Given the description of an element on the screen output the (x, y) to click on. 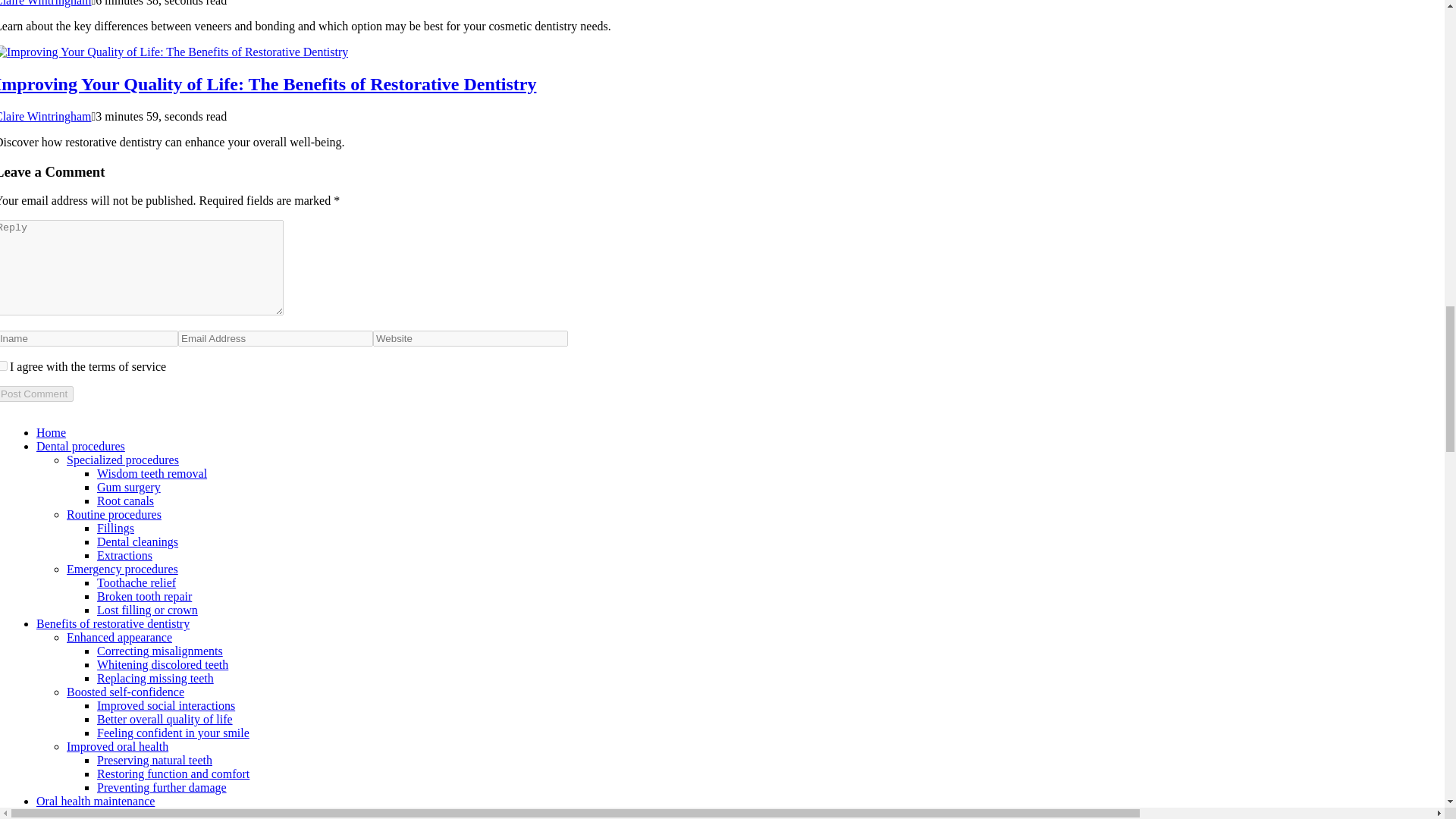
Posts by Claire Wintringham (45, 3)
yes (3, 366)
Posts by Claire Wintringham (45, 115)
Post Comment (37, 393)
